Given the description of an element on the screen output the (x, y) to click on. 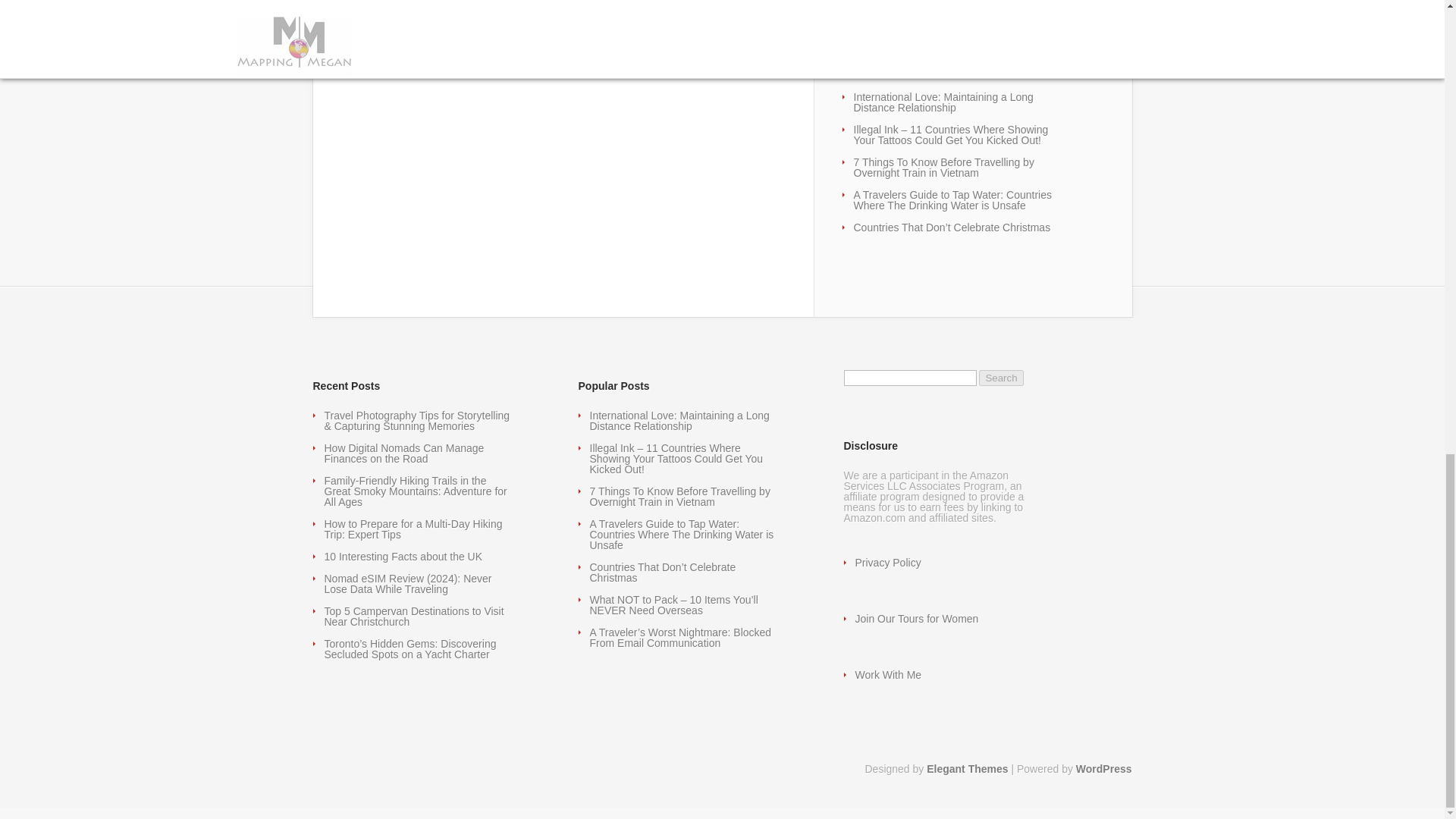
Permanent link to 10 Interesting Facts about the UK (932, 16)
Search (1000, 377)
International Love: Maintaining a Long Distance Relationship (943, 101)
